Given the description of an element on the screen output the (x, y) to click on. 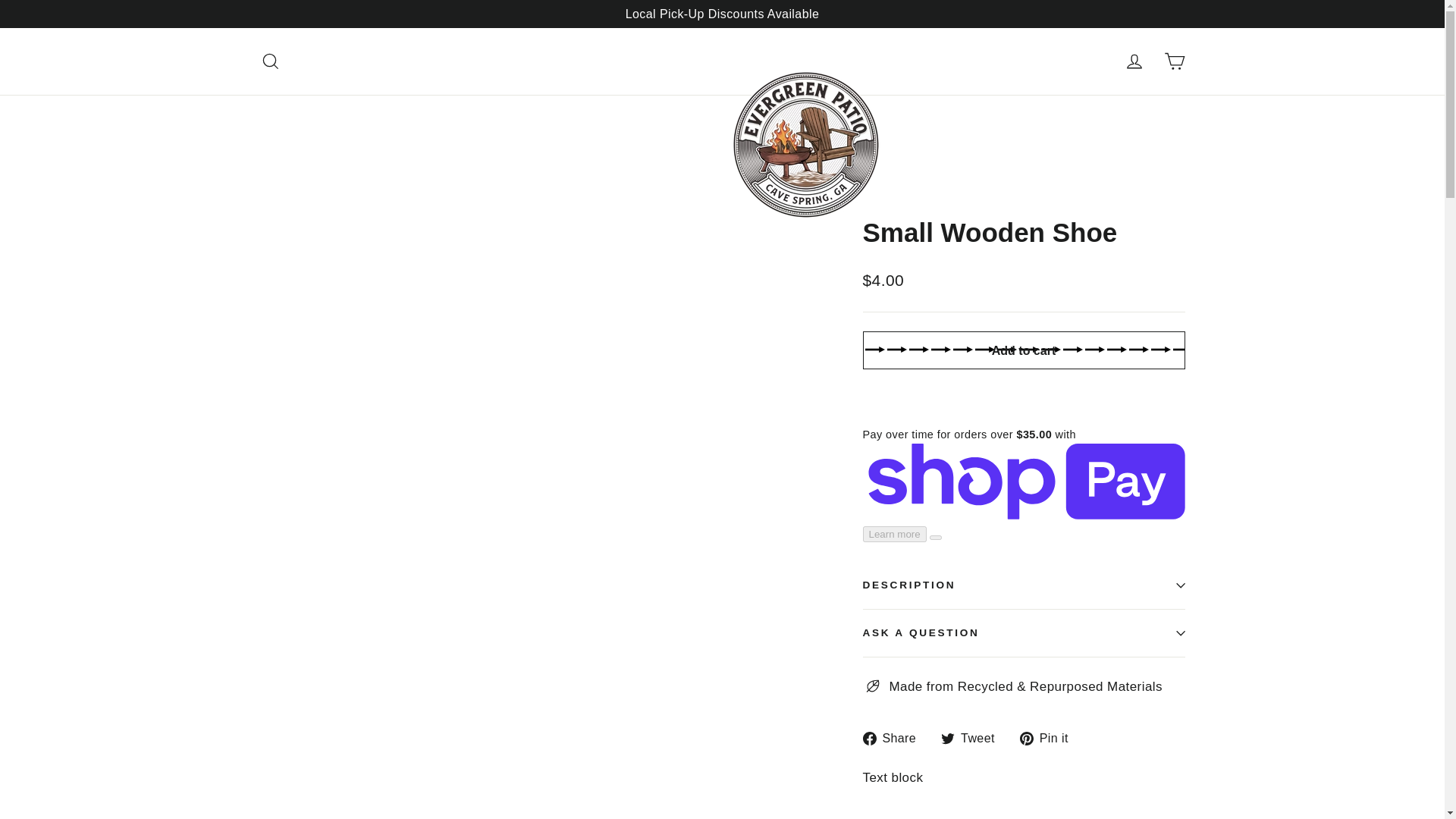
Tweet on Twitter (973, 738)
Pin on Pinterest (1050, 738)
Share on Facebook (895, 738)
Log in (1134, 61)
Cart (1050, 738)
Add to cart (1173, 61)
ASK A QUESTION (973, 738)
DESCRIPTION (1024, 350)
Search (1024, 632)
